Given the description of an element on the screen output the (x, y) to click on. 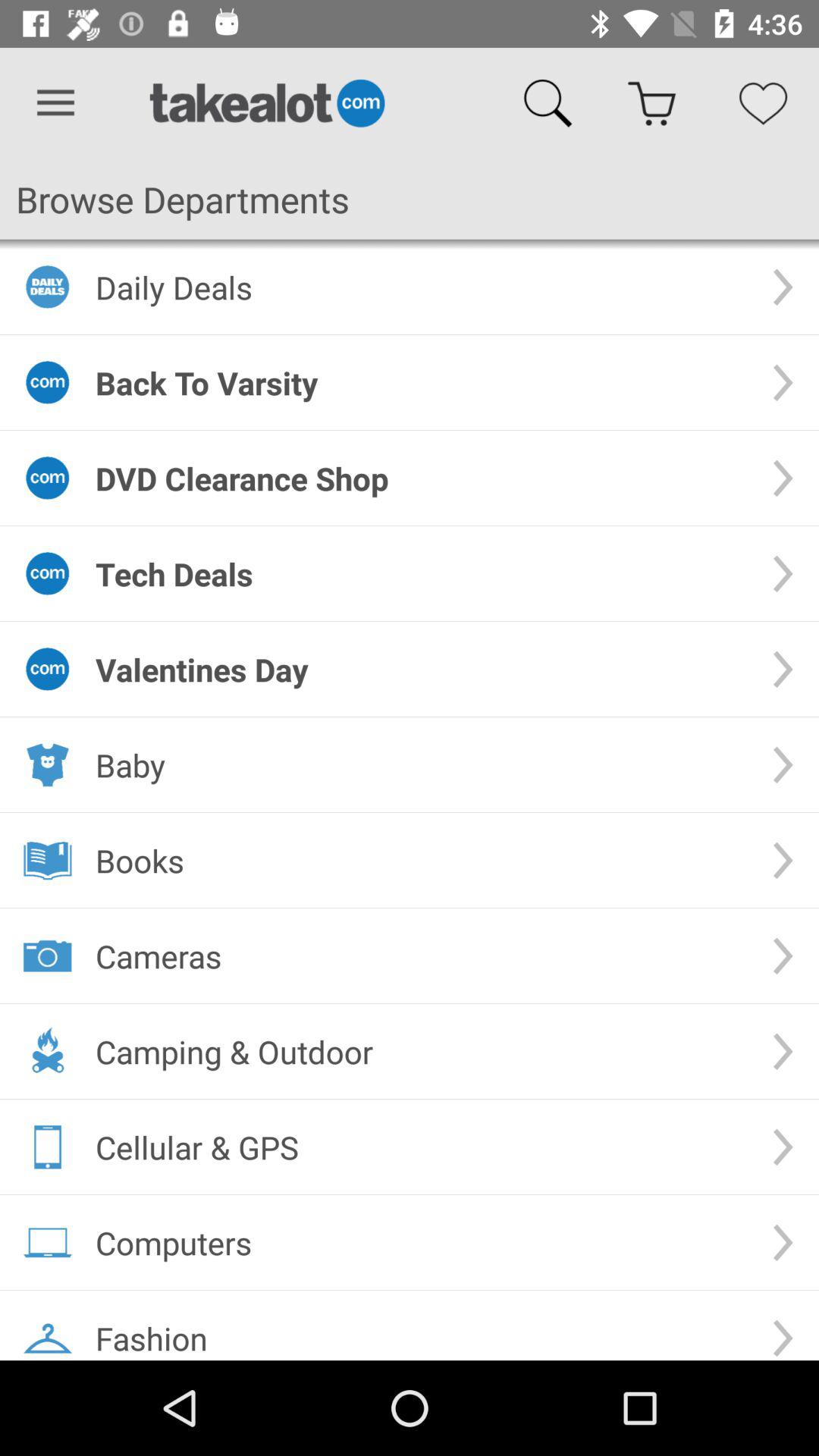
tap item below daily deals icon (421, 382)
